Given the description of an element on the screen output the (x, y) to click on. 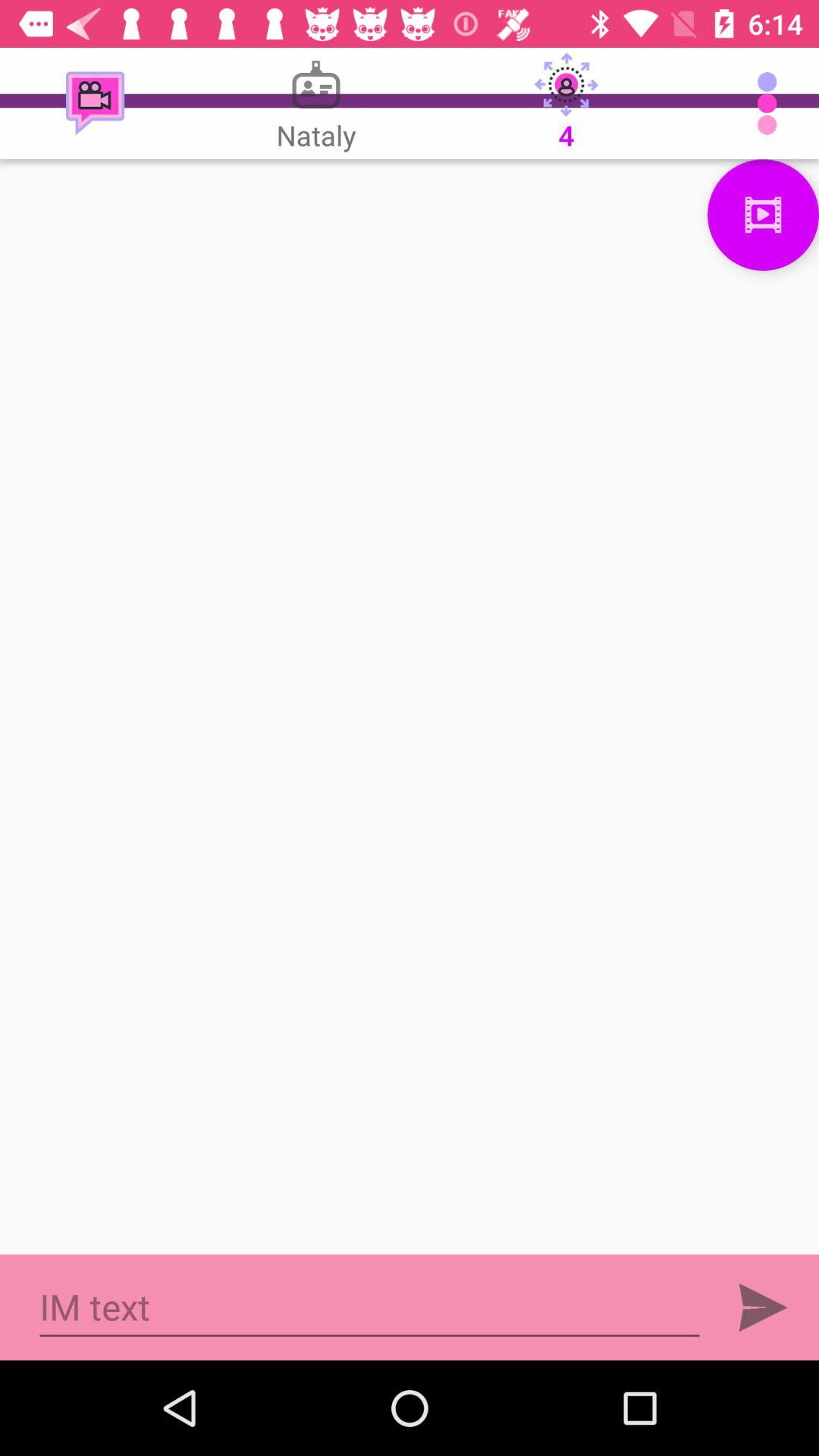
sent button (763, 1307)
